Given the description of an element on the screen output the (x, y) to click on. 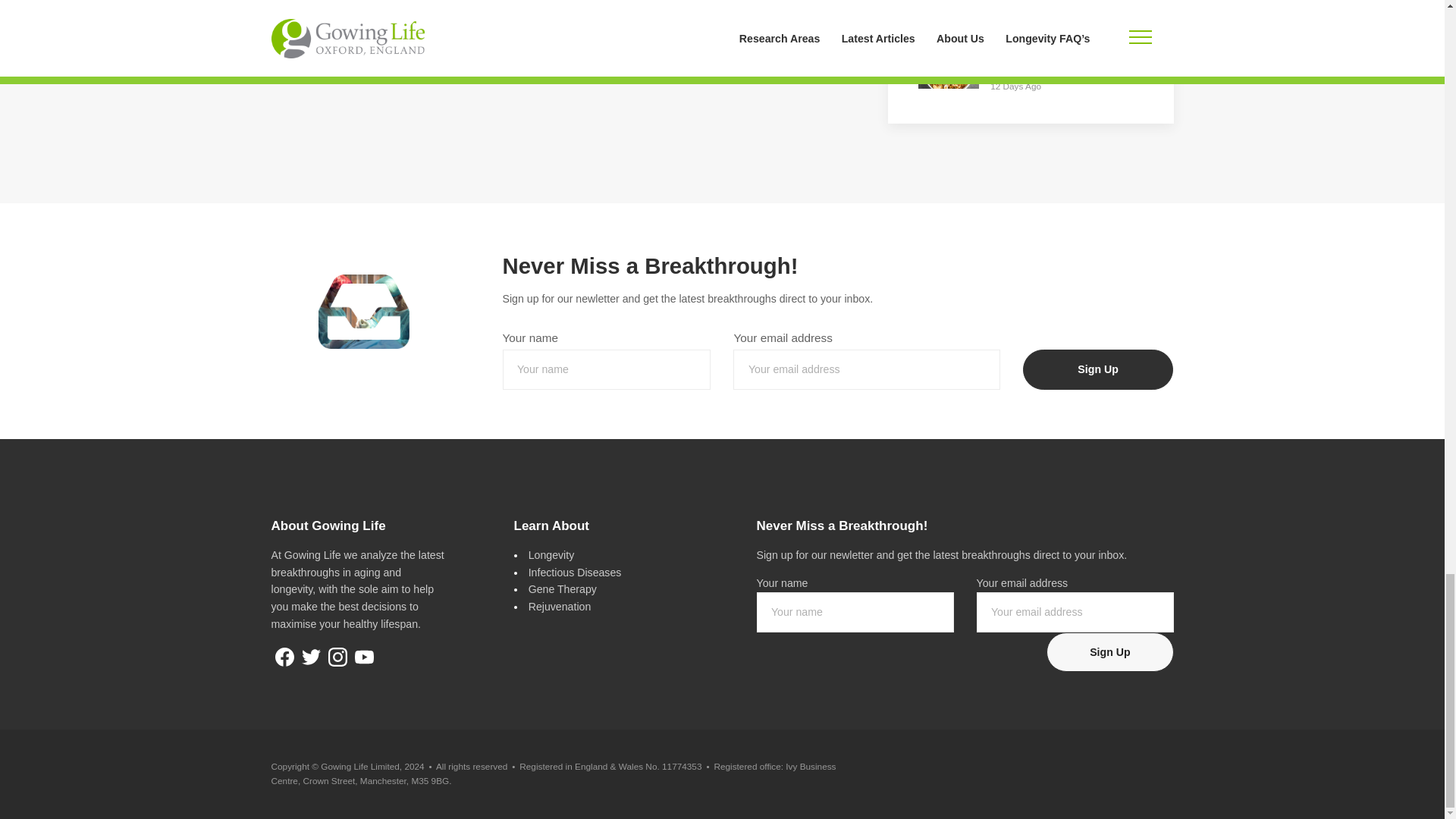
Sign Up (1098, 369)
Sign Up (1109, 651)
Learn all about Infectious Diseases (574, 572)
Learn all about Longevity (551, 554)
Learn all about Gene Therapy (562, 589)
Learn all about Rejuvenation (559, 606)
